Given the description of an element on the screen output the (x, y) to click on. 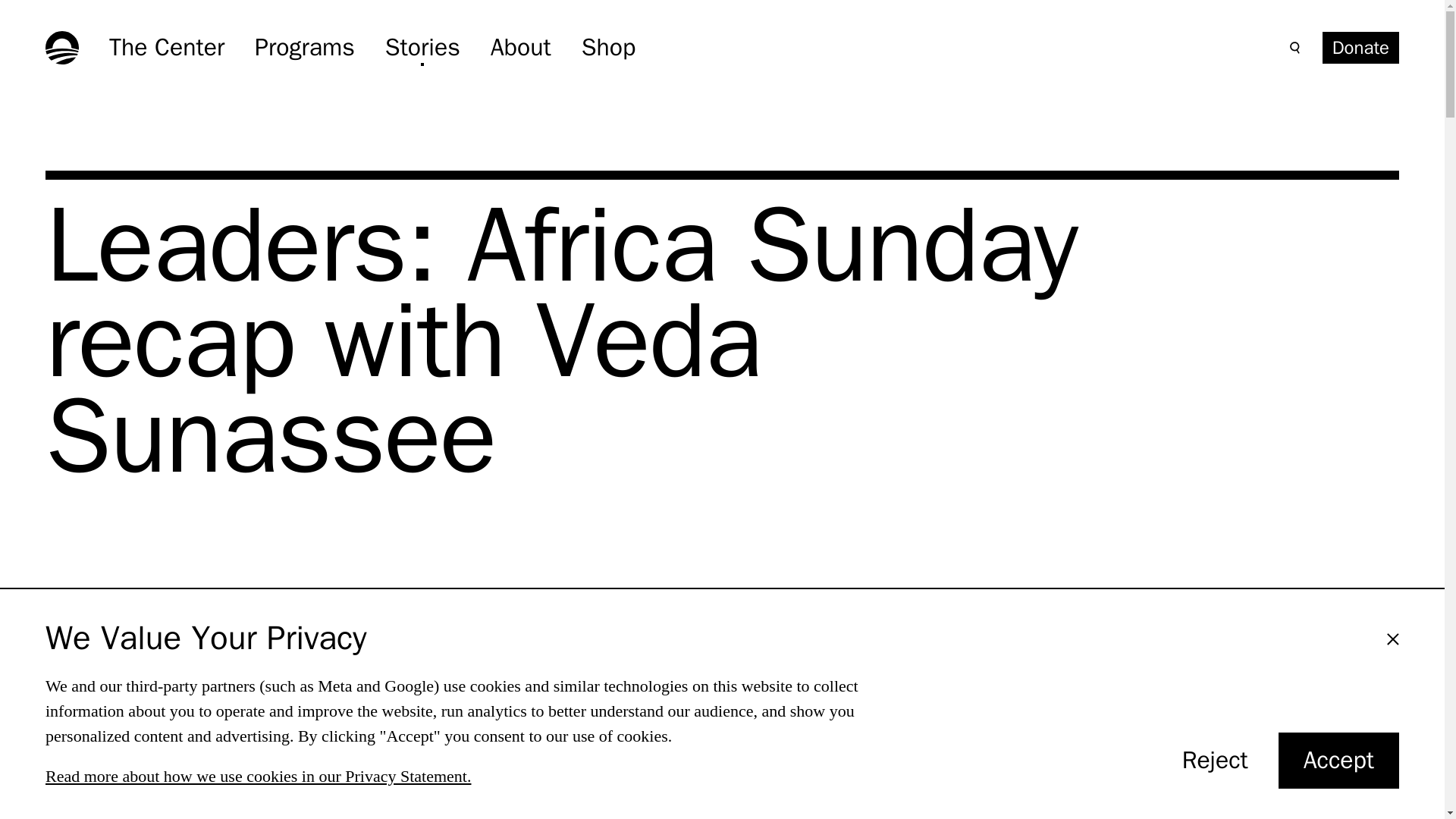
Leaders (198, 612)
Search (1294, 46)
Stories (1338, 760)
About (422, 46)
Read more about how we use cookies in our Privacy Statement. (520, 46)
Donate (257, 775)
Africa (1360, 47)
Event (312, 612)
Shop (85, 612)
The Center (608, 46)
Programs (166, 46)
